Given the description of an element on the screen output the (x, y) to click on. 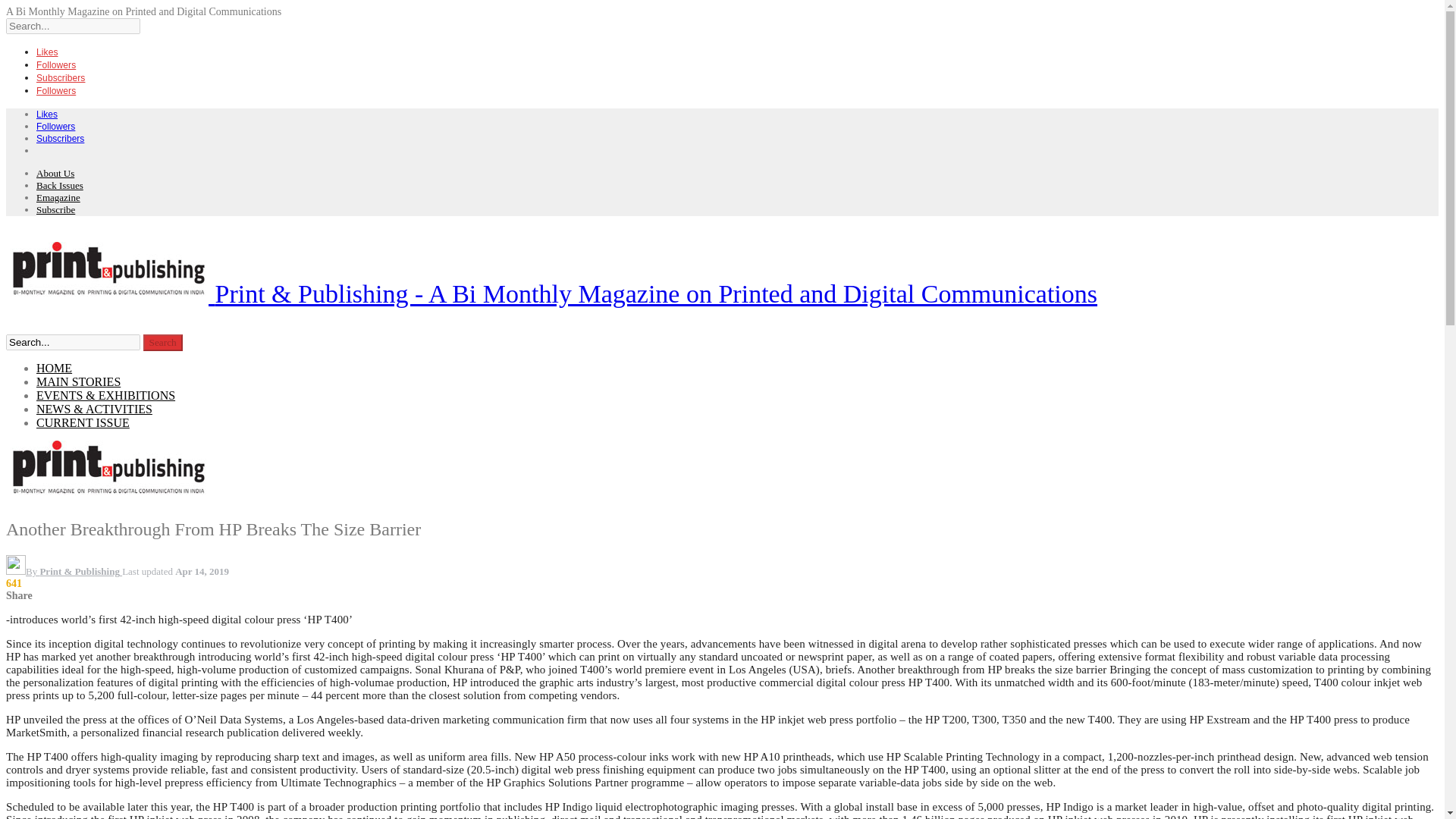
Search for: (72, 342)
Subscribe (55, 209)
Back Issues (59, 184)
Followers (55, 90)
Emagazine (58, 197)
Subscribers (60, 138)
Followers (55, 125)
Search (162, 342)
Followers (55, 64)
About Us (55, 173)
